Given the description of an element on the screen output the (x, y) to click on. 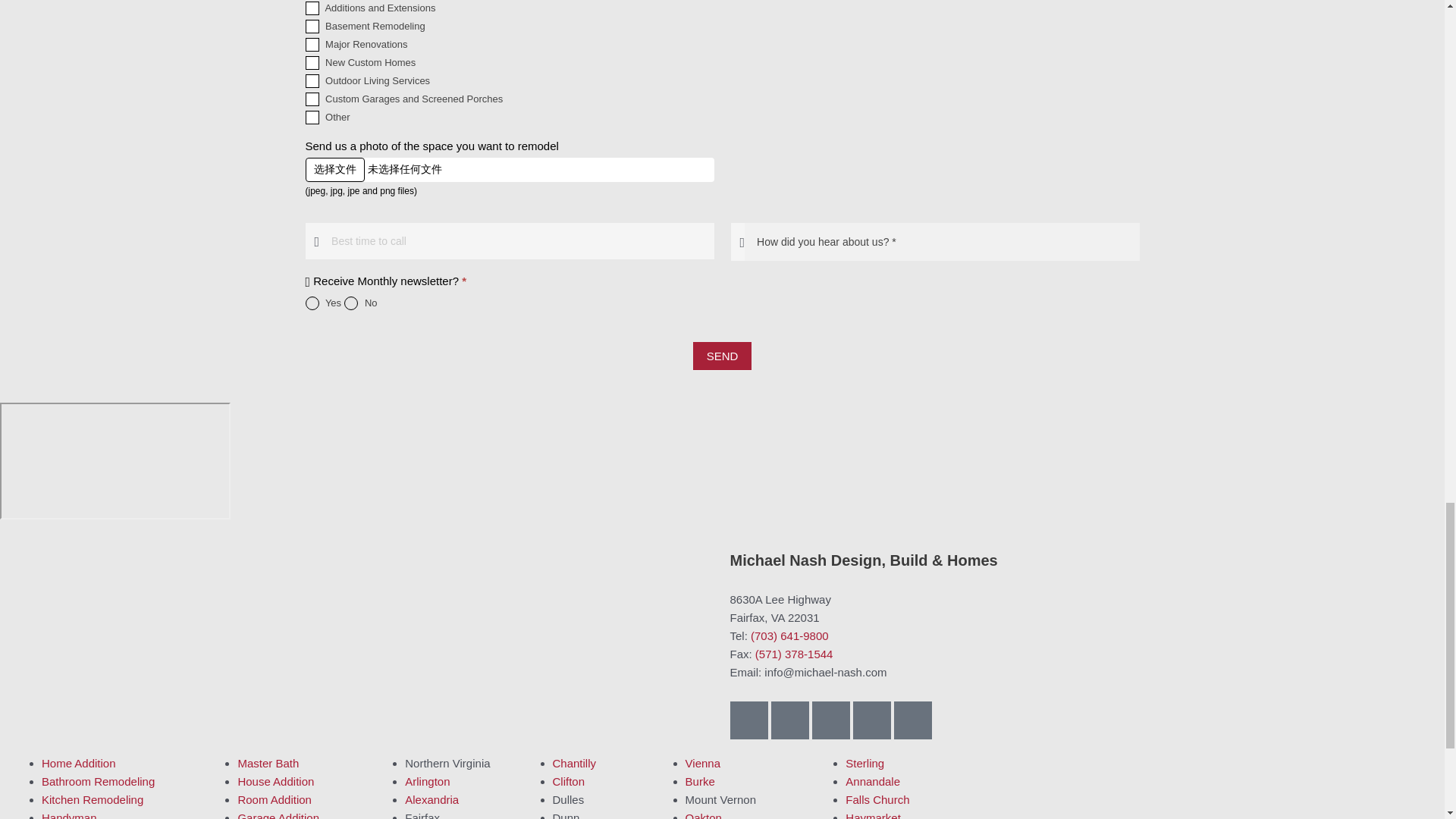
New Custom Homes (311, 62)
Additions and Extensions (311, 8)
Basement Remodeling (311, 26)
Other (311, 117)
Major Renovations (311, 44)
Outdoor Living Services (311, 80)
Yes (311, 303)
Custom Garages and Screened Porches (311, 99)
